Given the description of an element on the screen output the (x, y) to click on. 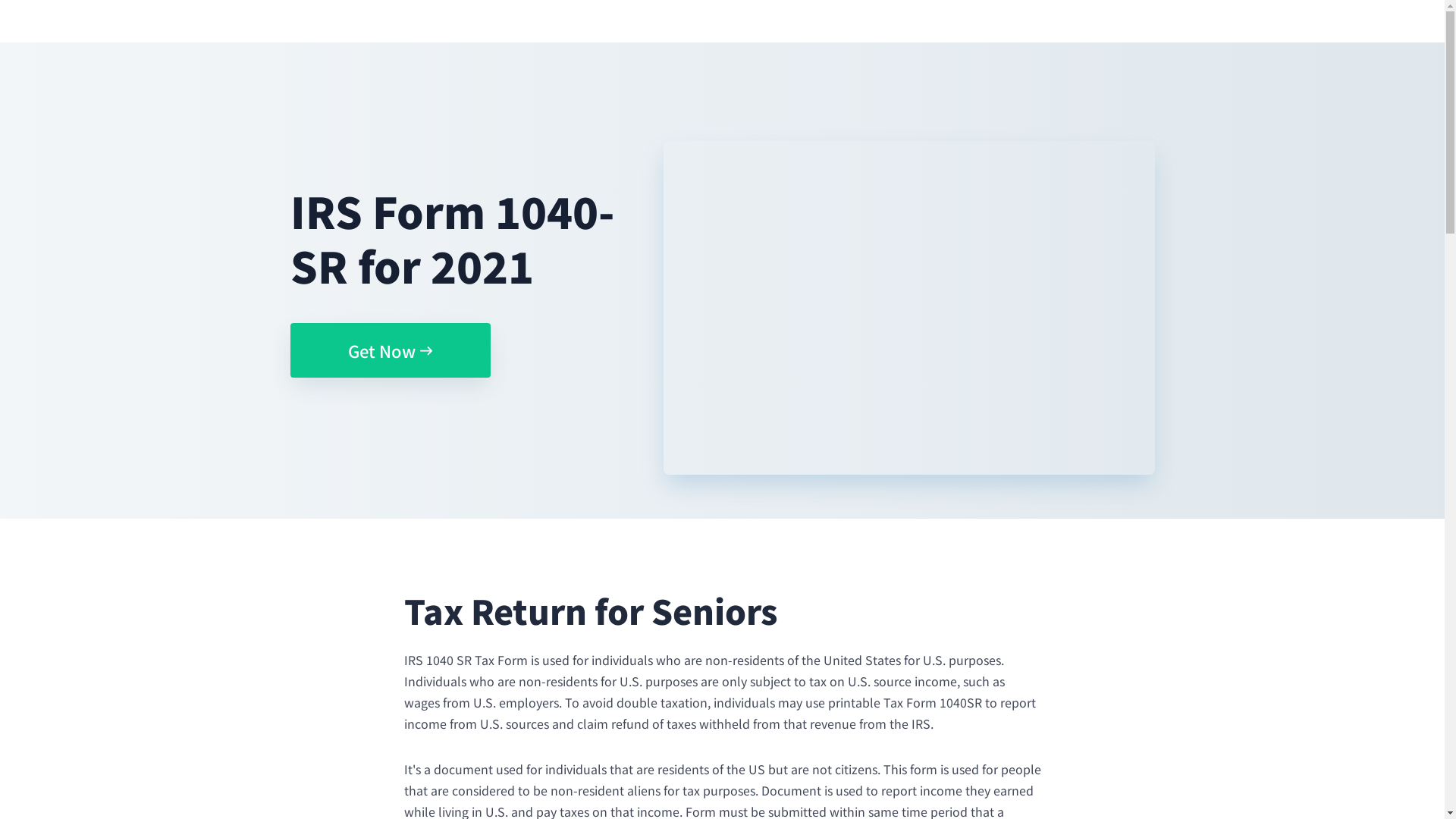
Get Now Element type: text (389, 350)
